Given the description of an element on the screen output the (x, y) to click on. 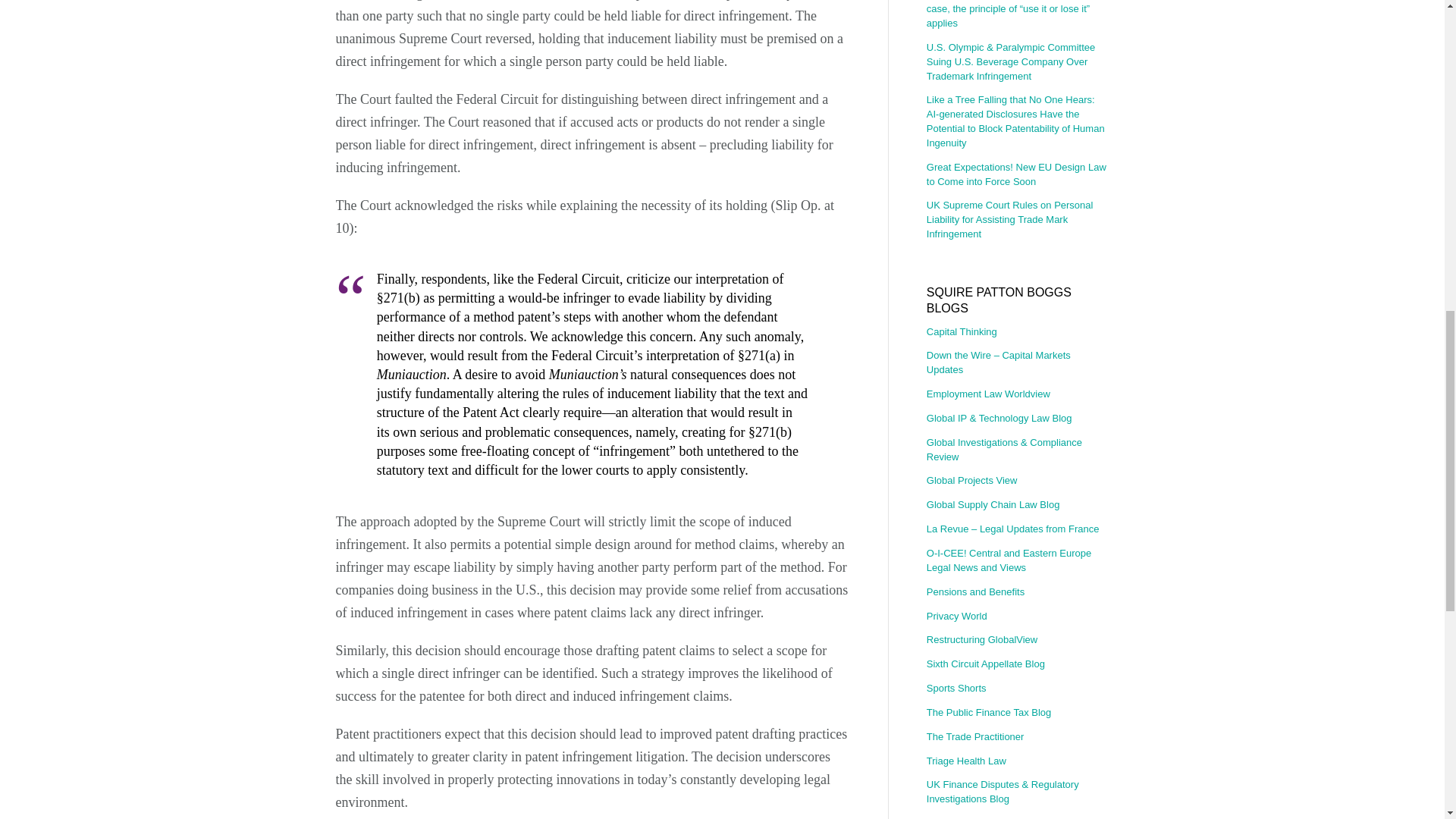
Pensions and Benefits (1017, 592)
Privacy World (1017, 616)
O-I-CEE! Central and Eastern Europe Legal News and Views (1017, 560)
Capital Thinking (1017, 334)
Global Projects View (1017, 481)
Employment Law Worldview (1017, 394)
Global Supply Chain Law Blog (1017, 504)
